Given the description of an element on the screen output the (x, y) to click on. 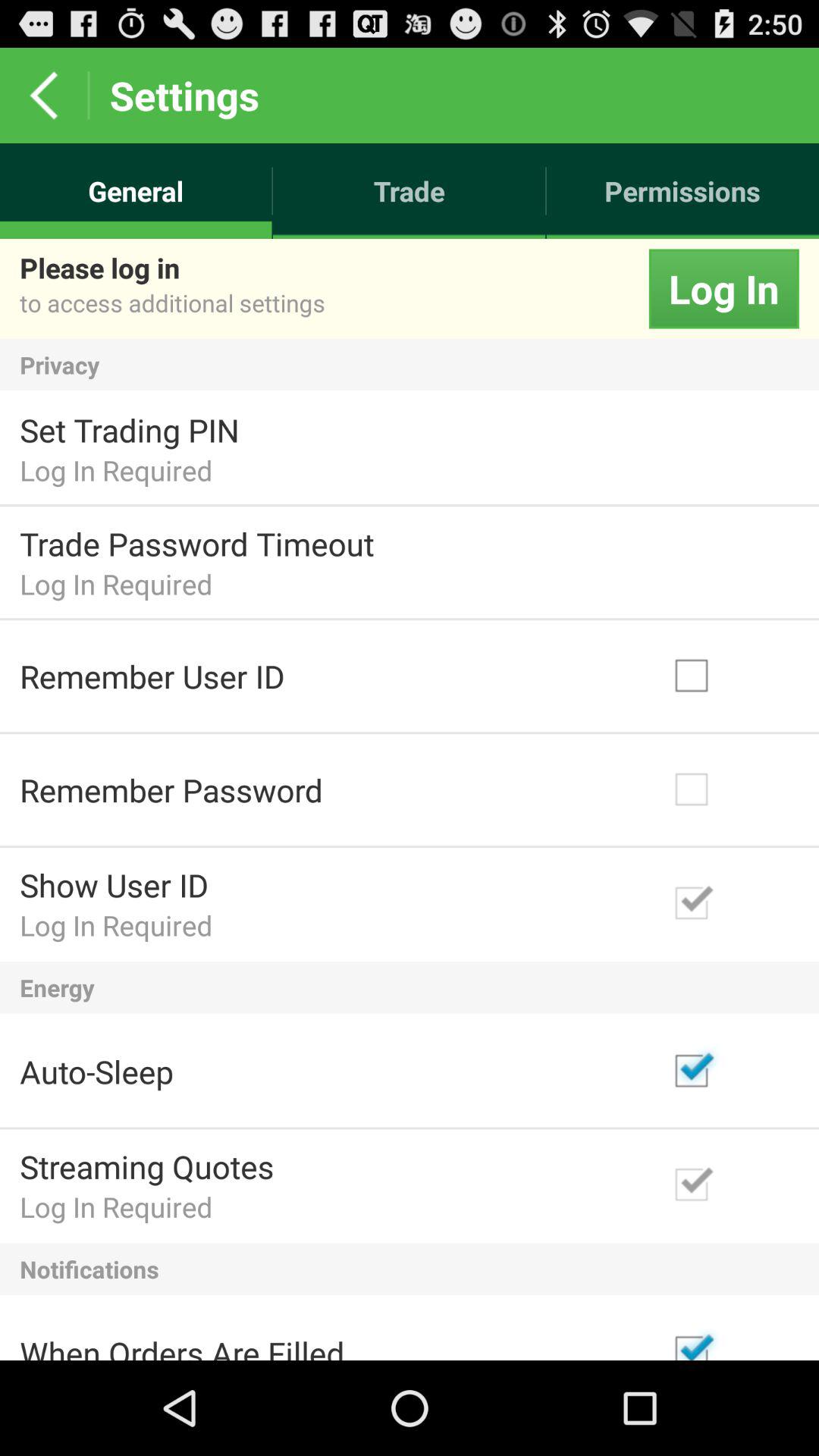
jump until notifications (409, 1269)
